Given the description of an element on the screen output the (x, y) to click on. 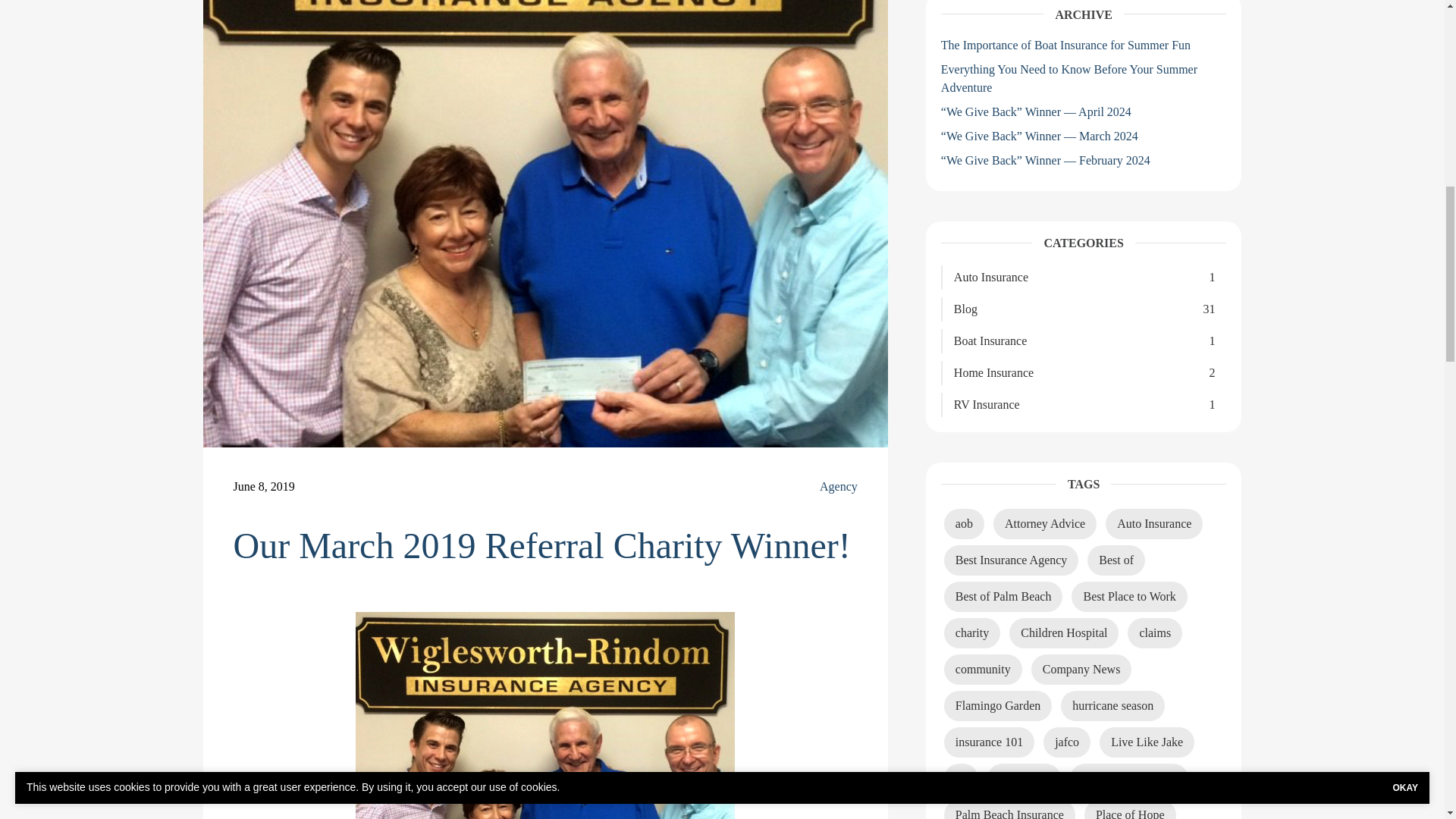
Agency (838, 486)
